Given the description of an element on the screen output the (x, y) to click on. 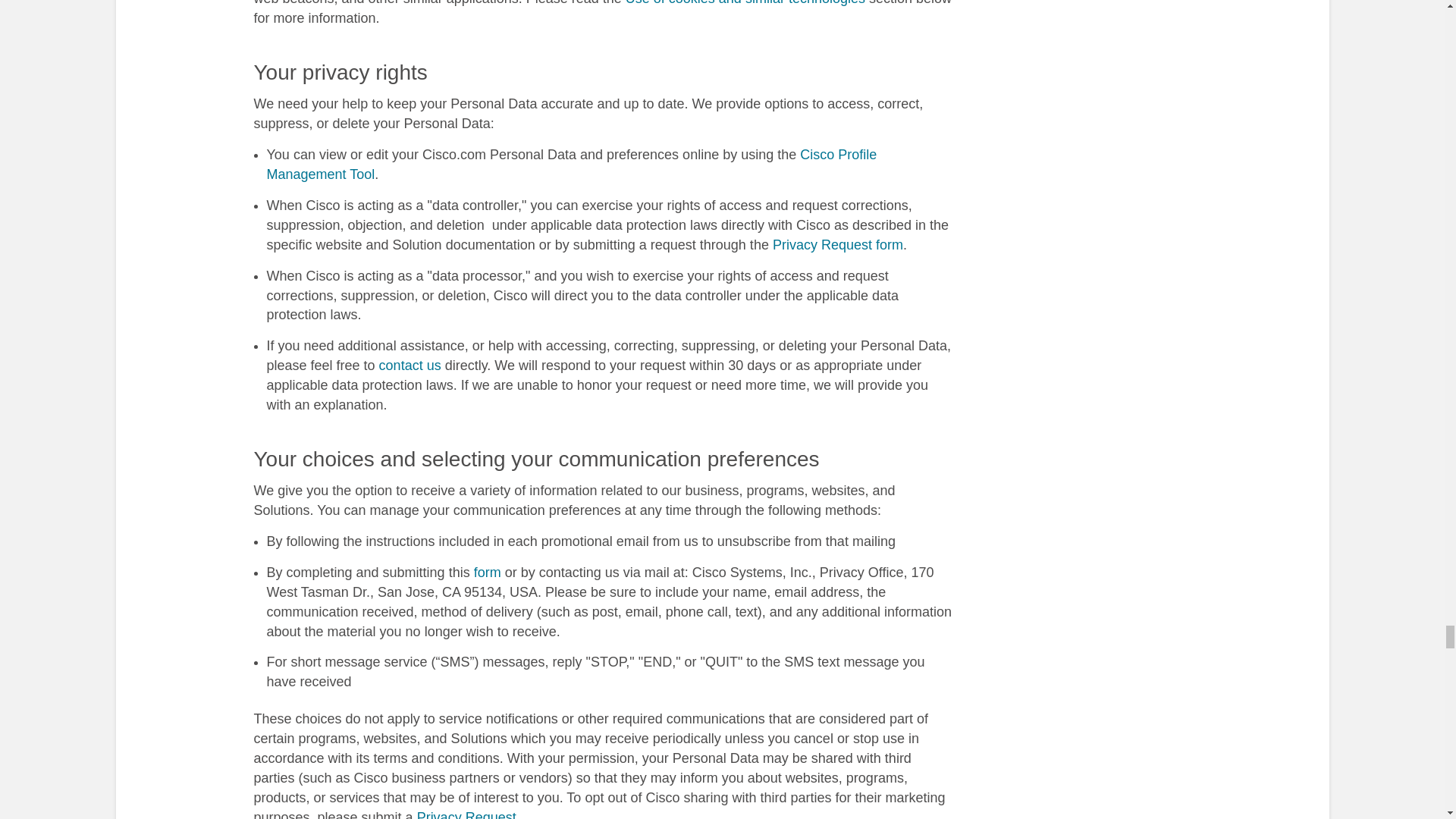
contact us (409, 365)
Cisco Profile Management Tool (571, 164)
Use of cookies and similar technologies (745, 2)
Privacy Request form (837, 244)
Privacy Request (466, 814)
form (487, 572)
